Given the description of an element on the screen output the (x, y) to click on. 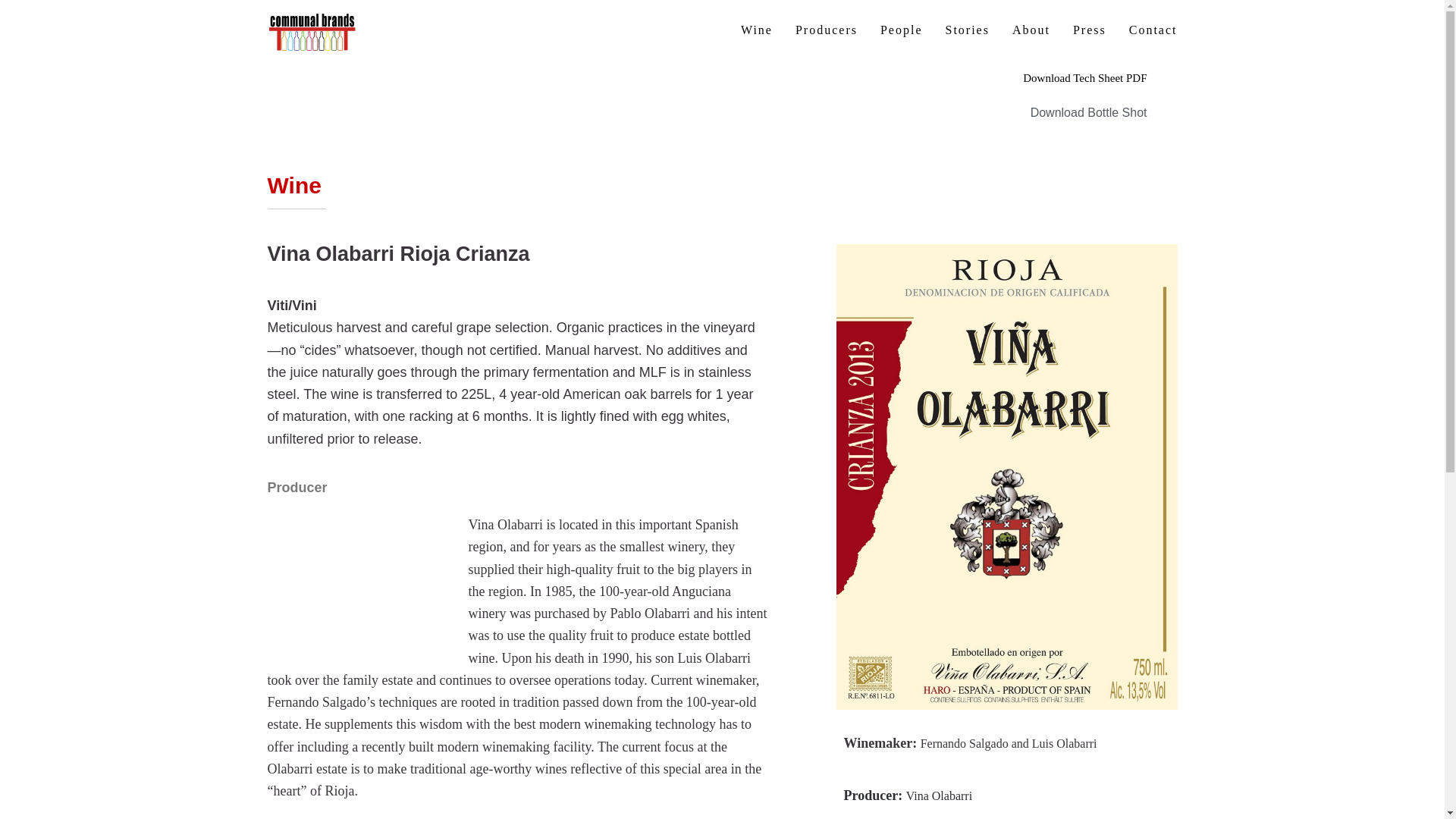
Producers (825, 30)
Producer: Vina Olabarri (907, 795)
Download Tech Sheet PDF (1085, 78)
Download Bottle Shot (1088, 112)
